Given the description of an element on the screen output the (x, y) to click on. 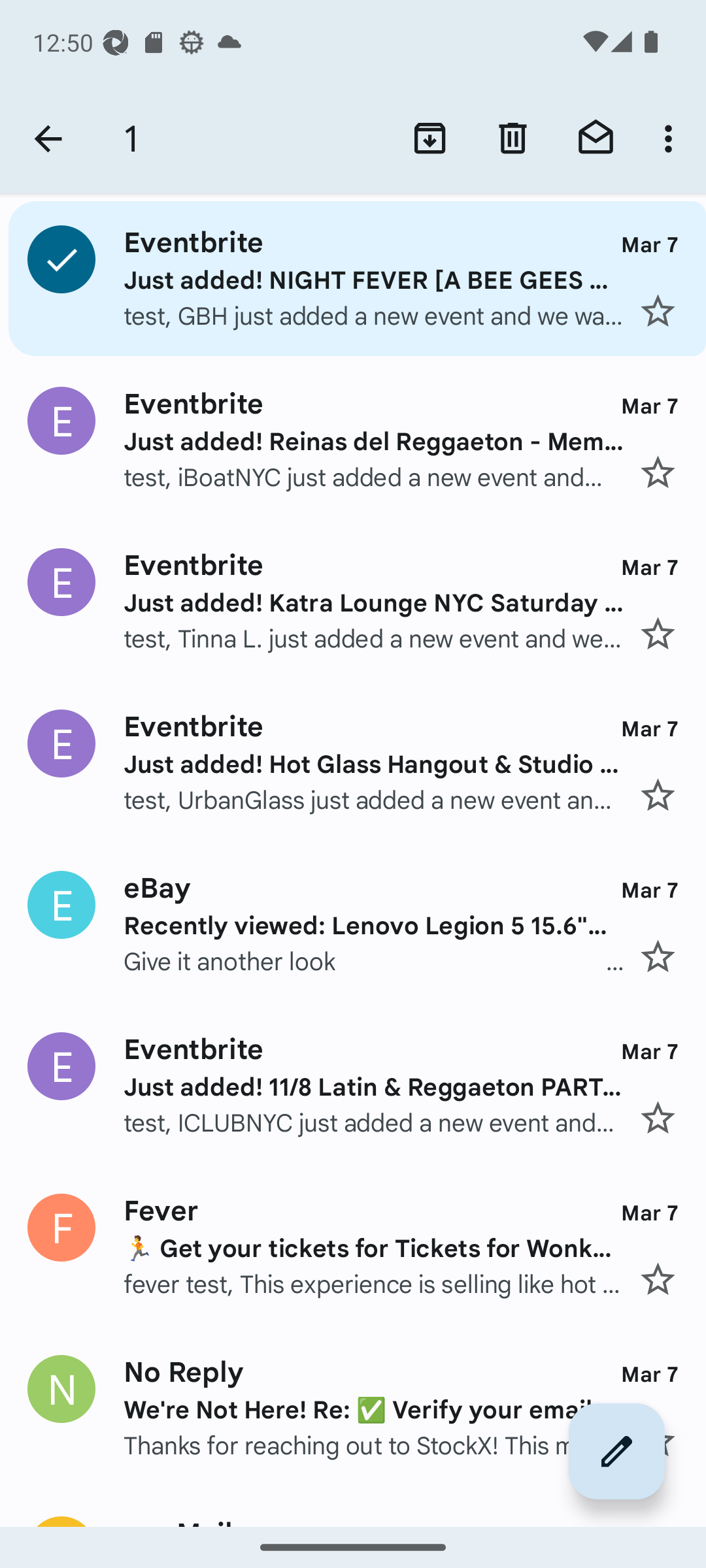
Done (48, 138)
Archive (429, 138)
Delete (512, 138)
Mark read (595, 138)
More options (671, 138)
Compose (617, 1451)
